Given the description of an element on the screen output the (x, y) to click on. 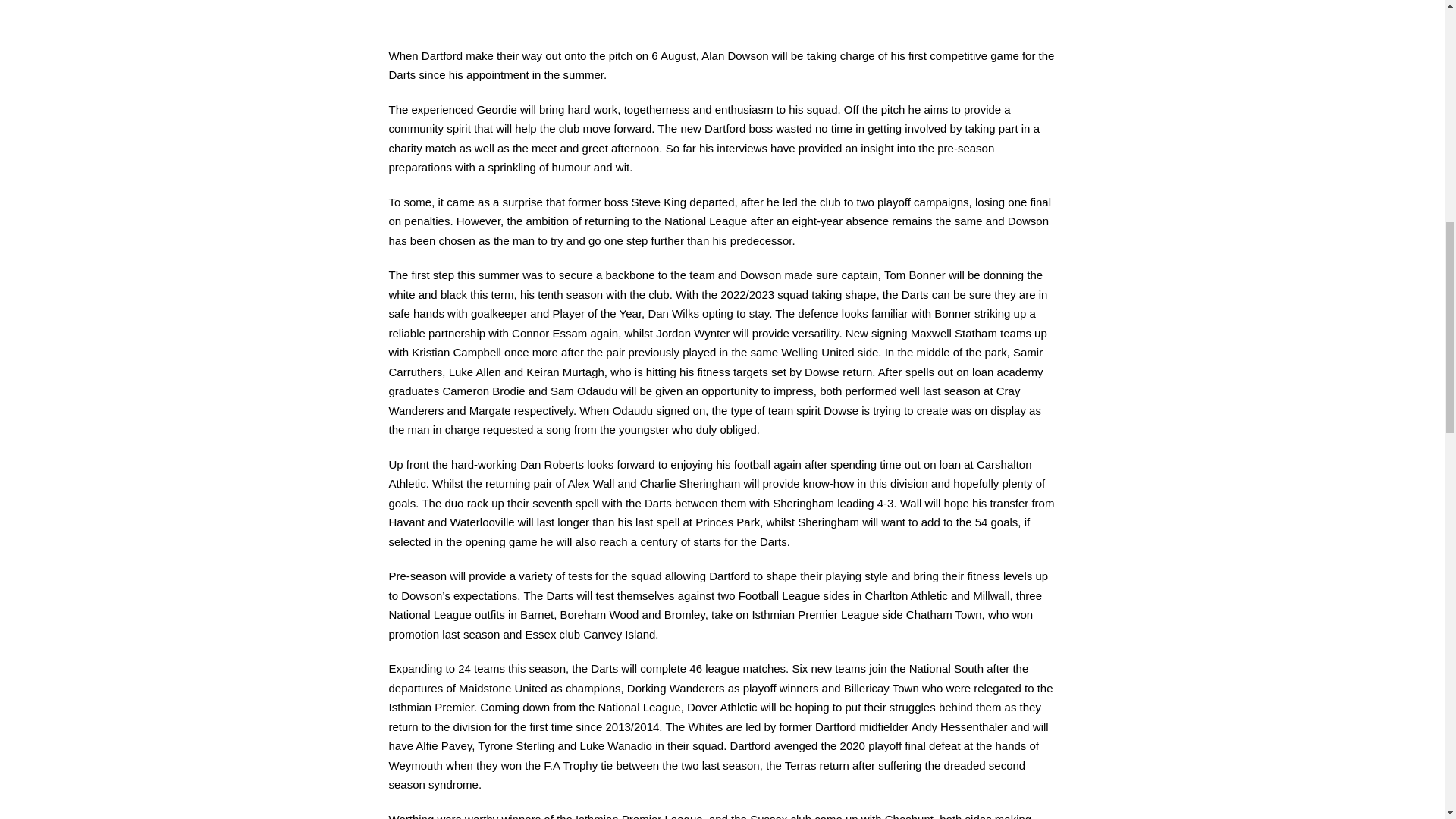
Copy of Copy of fixtures (721, 7)
